Given the description of an element on the screen output the (x, y) to click on. 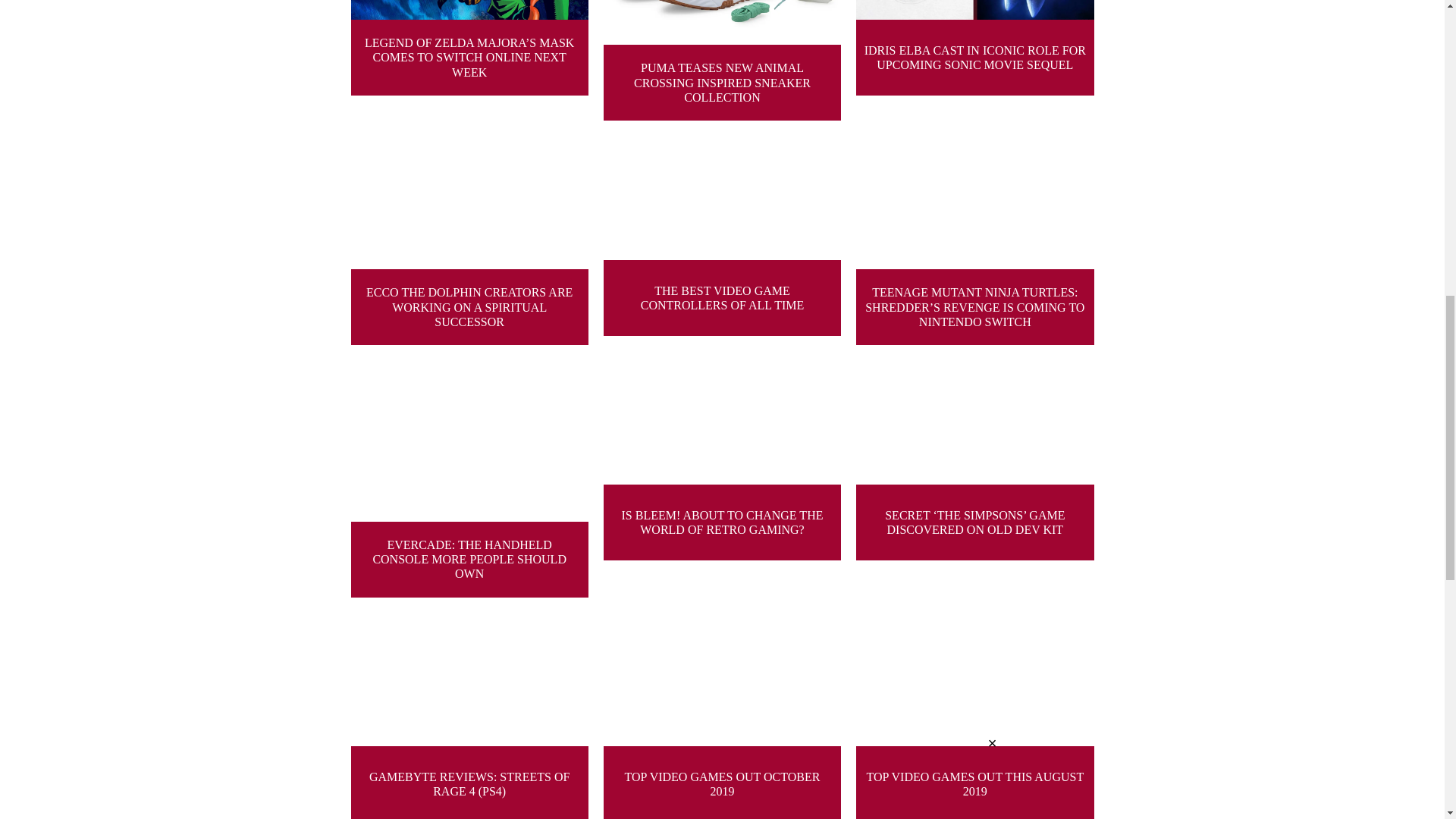
PUMA TEASES NEW ANIMAL CROSSING INSPIRED SNEAKER COLLECTION (722, 60)
TOP VIDEO GAMES OUT THIS AUGUST 2019 (974, 715)
TOP VIDEO GAMES OUT OCTOBER 2019 (722, 715)
IS BLEEM! ABOUT TO CHANGE THE WORLD OF RETRO GAMING? (722, 478)
THE BEST VIDEO GAME CONTROLLERS OF ALL TIME (722, 239)
EVERCADE: THE HANDHELD CONSOLE MORE PEOPLE SHOULD OWN (469, 478)
